Given the description of an element on the screen output the (x, y) to click on. 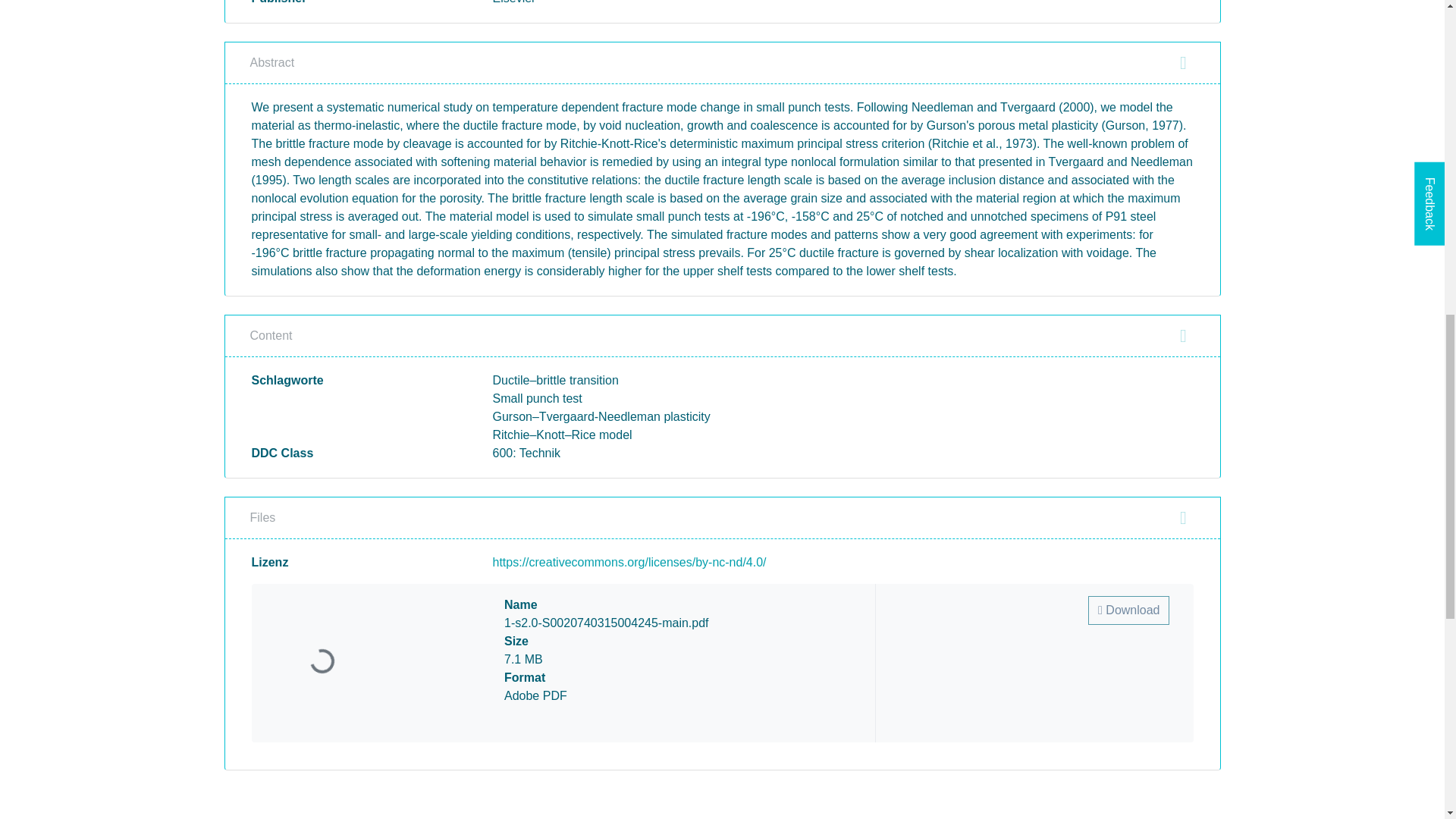
Close section (1183, 63)
Close section (1183, 517)
Close section (1183, 335)
